Given the description of an element on the screen output the (x, y) to click on. 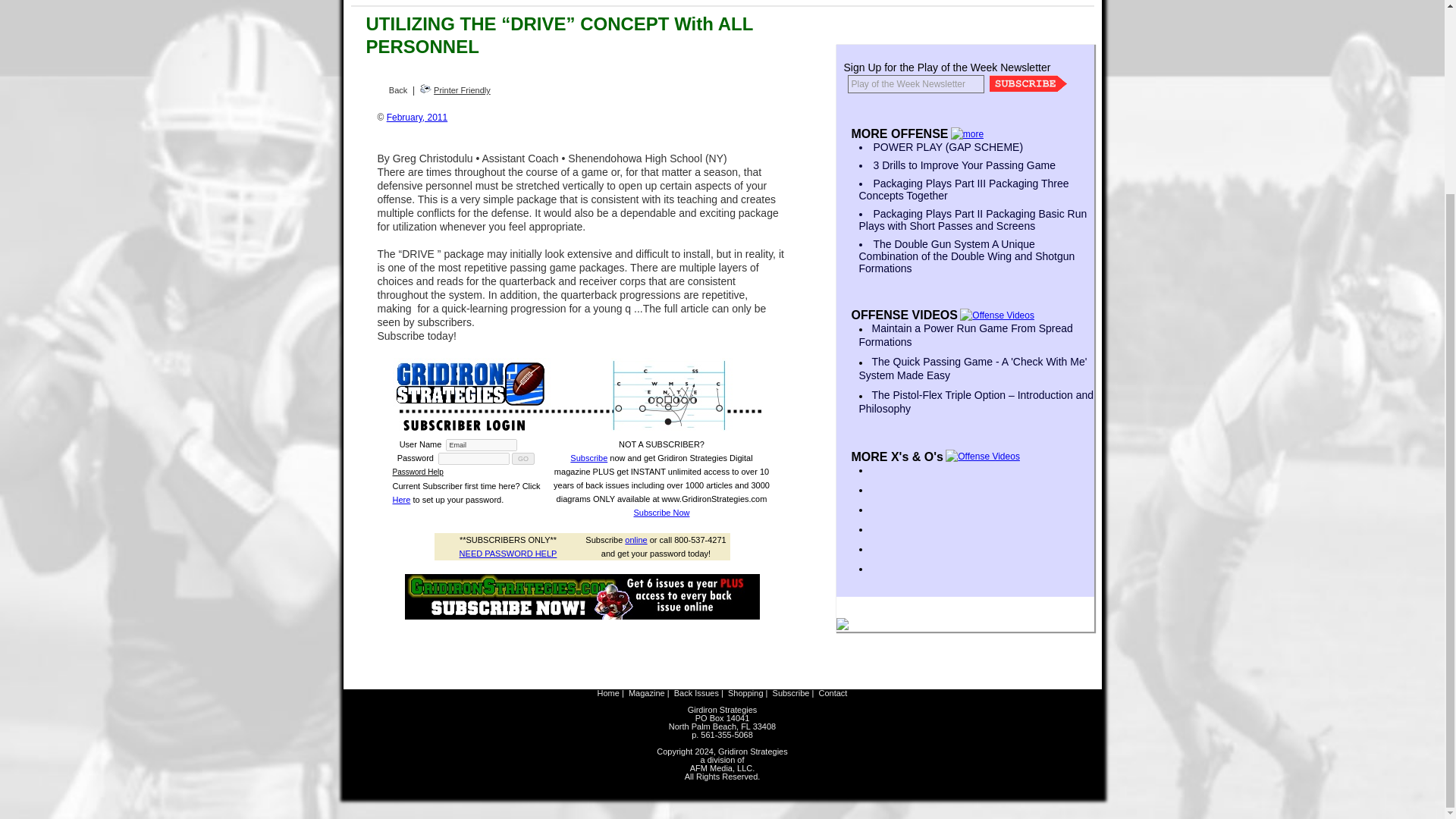
Join (1028, 83)
Subscribe to Gridiron Strategies (582, 596)
GO (523, 458)
Email (480, 444)
Play of the Week Newsletter (915, 84)
